Given the description of an element on the screen output the (x, y) to click on. 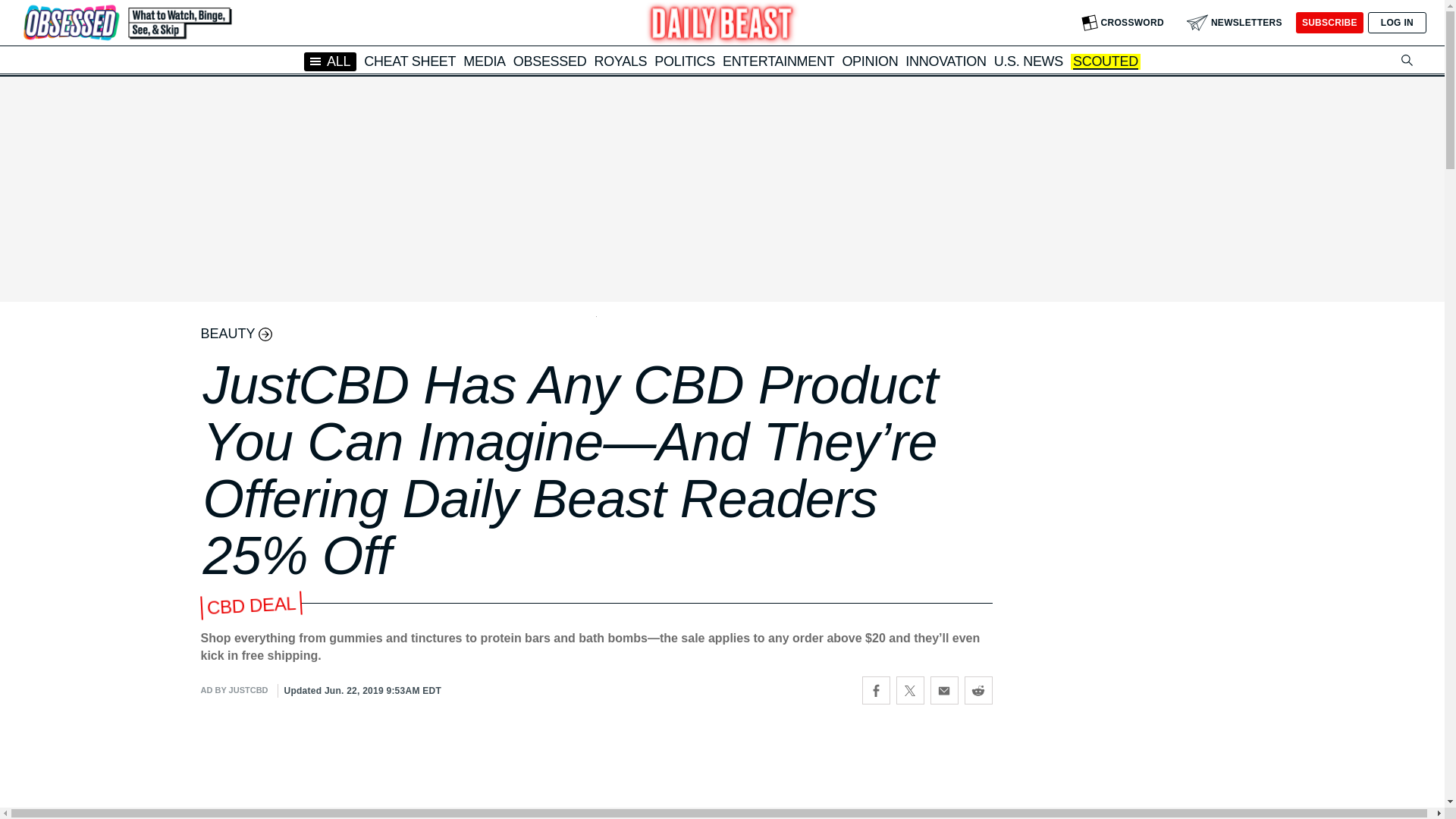
NEWSLETTERS (1234, 22)
MEDIA (484, 60)
CROSSWORD (1122, 22)
ALL (330, 60)
OPINION (869, 60)
POLITICS (683, 60)
INNOVATION (945, 60)
LOG IN (1397, 22)
